Given the description of an element on the screen output the (x, y) to click on. 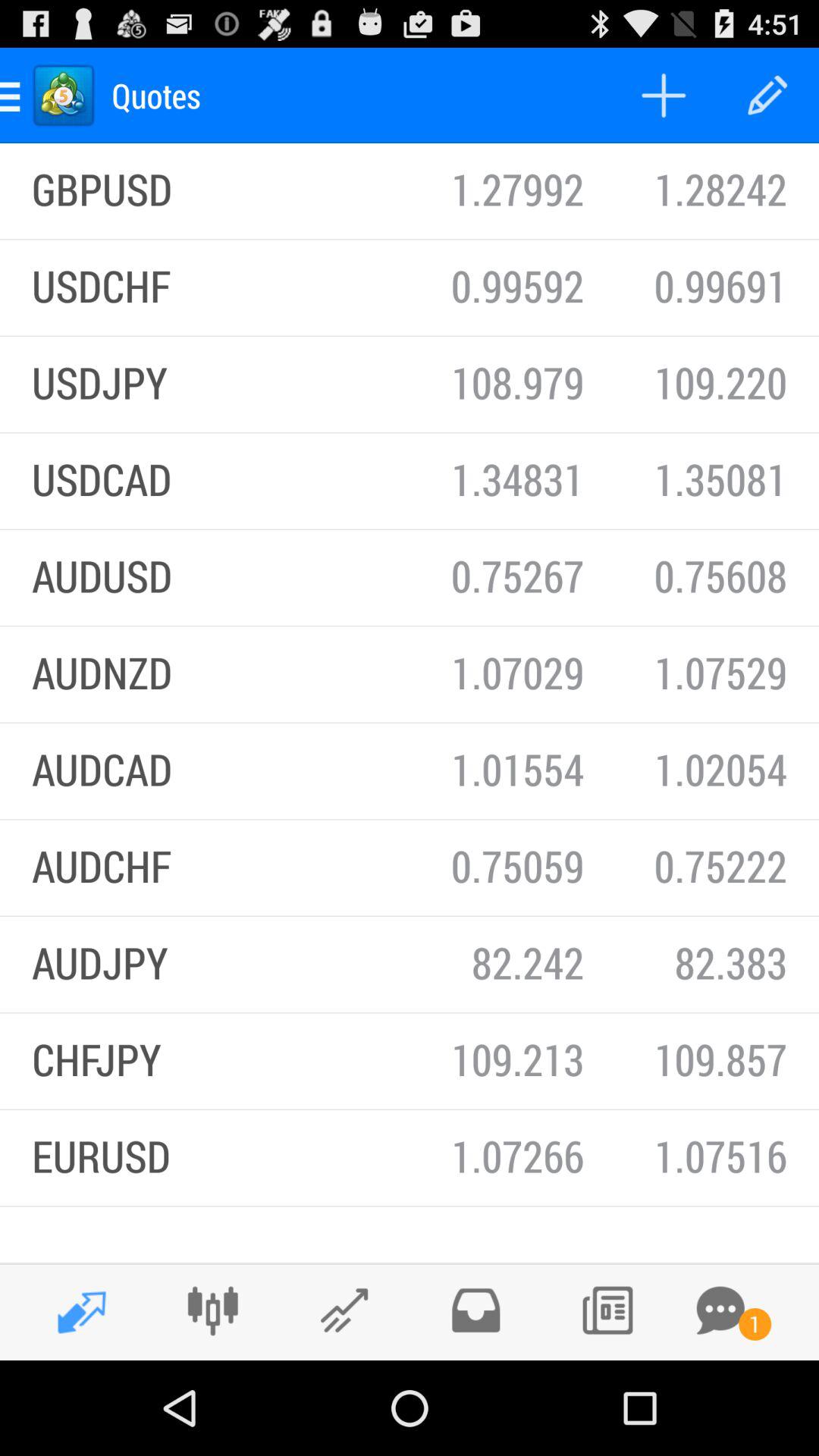
select the merge option (212, 1310)
